Given the description of an element on the screen output the (x, y) to click on. 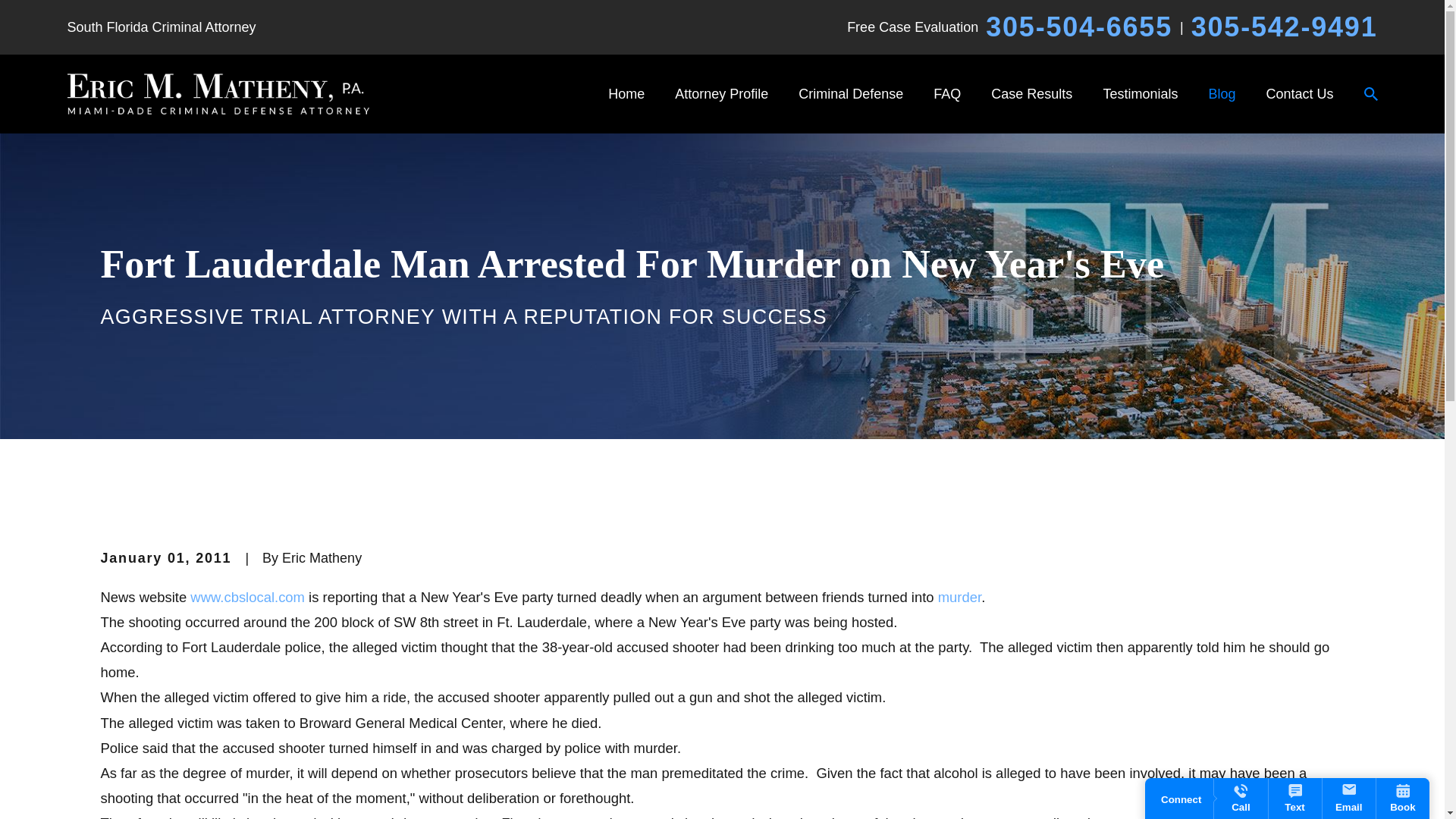
Attorney Profile (721, 93)
Criminal Defense (849, 93)
Home (217, 93)
305-504-6655 (1078, 26)
305-542-9491 (1284, 26)
